Given the description of an element on the screen output the (x, y) to click on. 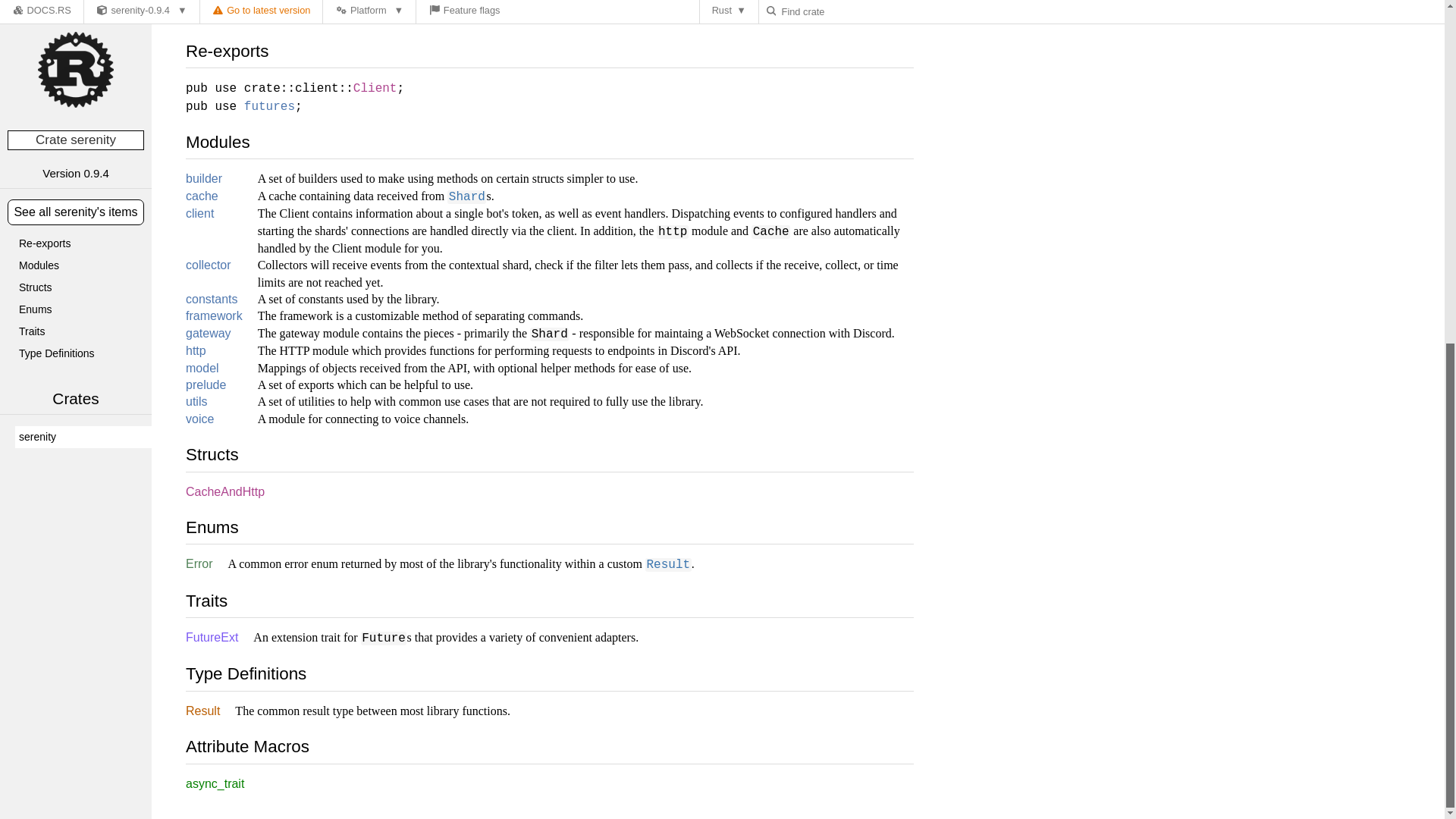
struct serenity::client::Client (375, 88)
serenity::cache mod (202, 195)
serenity::collector mod (208, 264)
serenity::constants mod (211, 298)
mod futures (269, 106)
serenity::client mod (200, 213)
serenity::builder mod (204, 178)
